Given the description of an element on the screen output the (x, y) to click on. 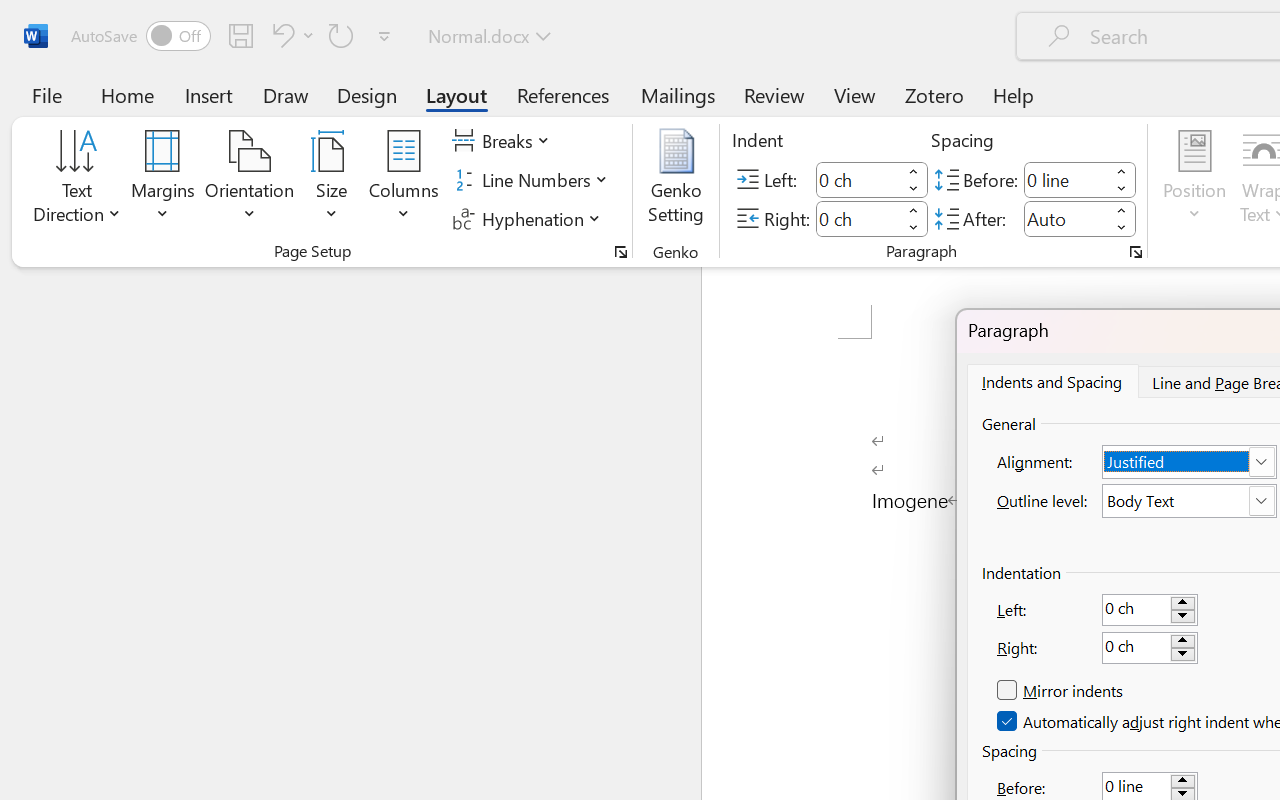
Indents and Spacing (1051, 381)
Columns (404, 179)
Paragraph... (1135, 252)
Margins (163, 179)
Repeat Paragraph Formatting (341, 35)
More (1121, 210)
